Given the description of an element on the screen output the (x, y) to click on. 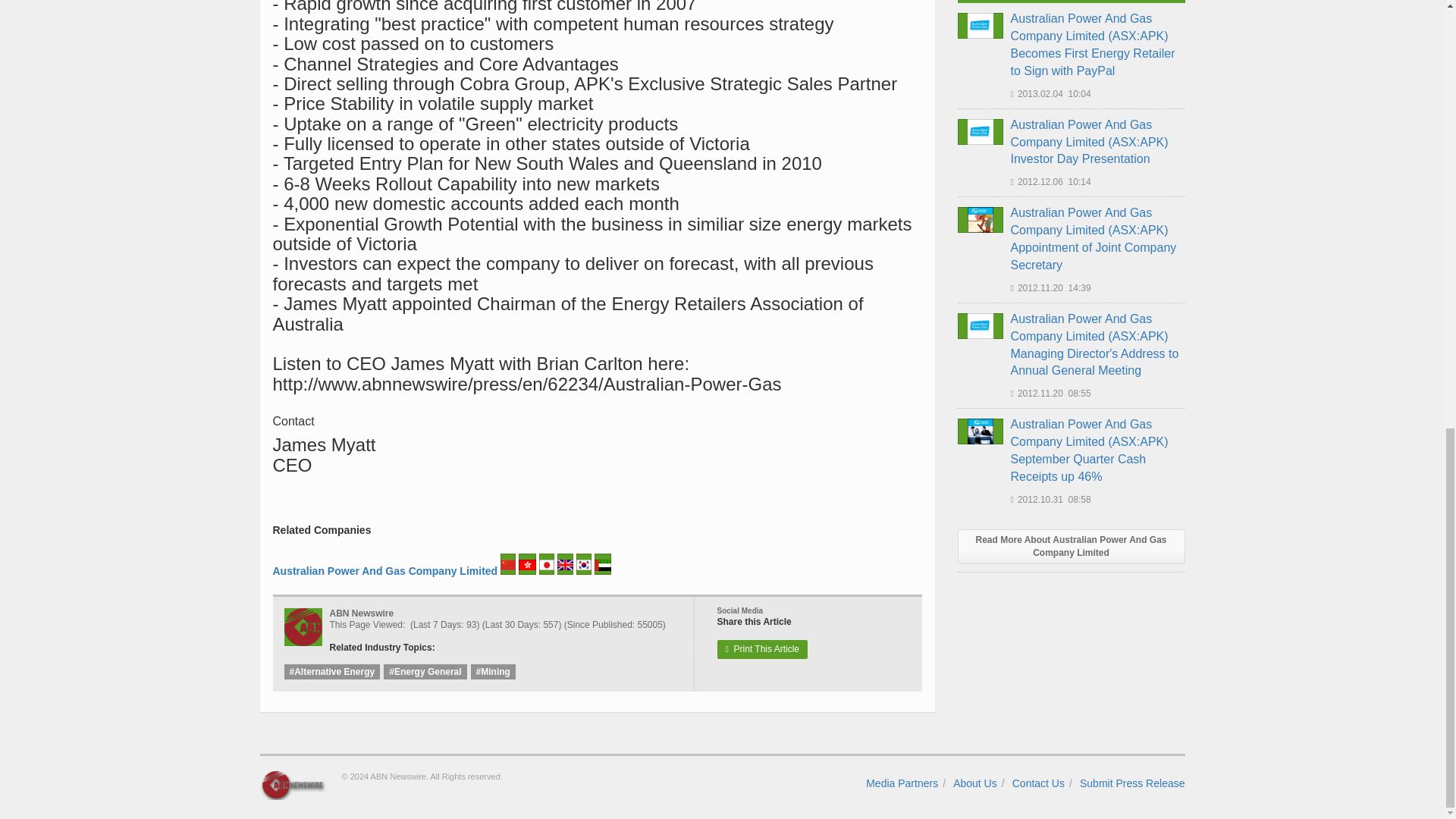
Energy General (424, 671)
Mining (492, 671)
Australian Power And Gas Company Limited (385, 571)
Print This Article Australian Power And Gas Company Limited (762, 649)
Alternative Energy (331, 671)
